Given the description of an element on the screen output the (x, y) to click on. 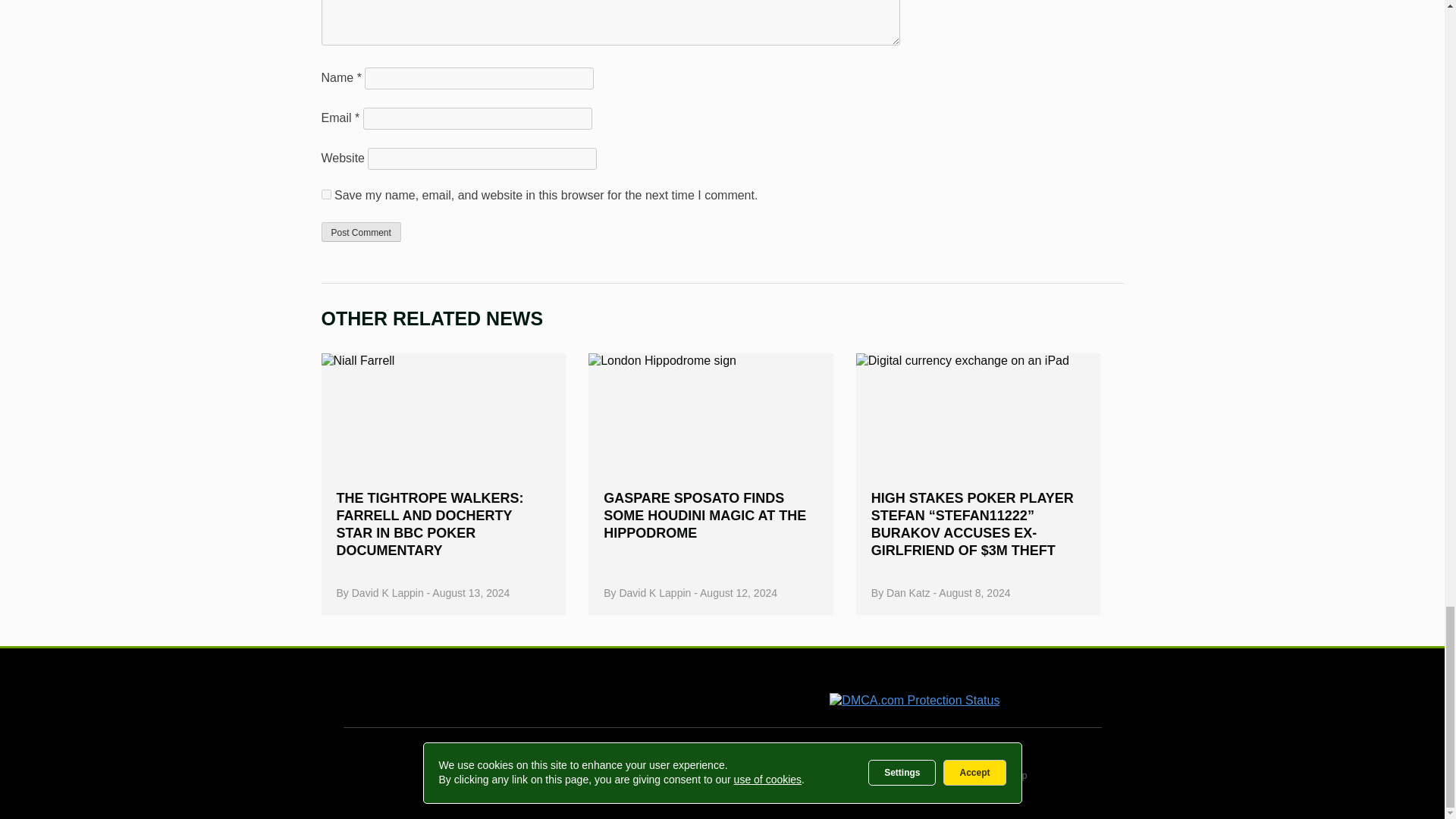
Gambleaware (633, 692)
yes (326, 194)
DMCA.com Protection Status (913, 699)
Post Comment (361, 231)
Gamcare (496, 693)
Ecogra (744, 692)
Post Comment (361, 231)
